Given the description of an element on the screen output the (x, y) to click on. 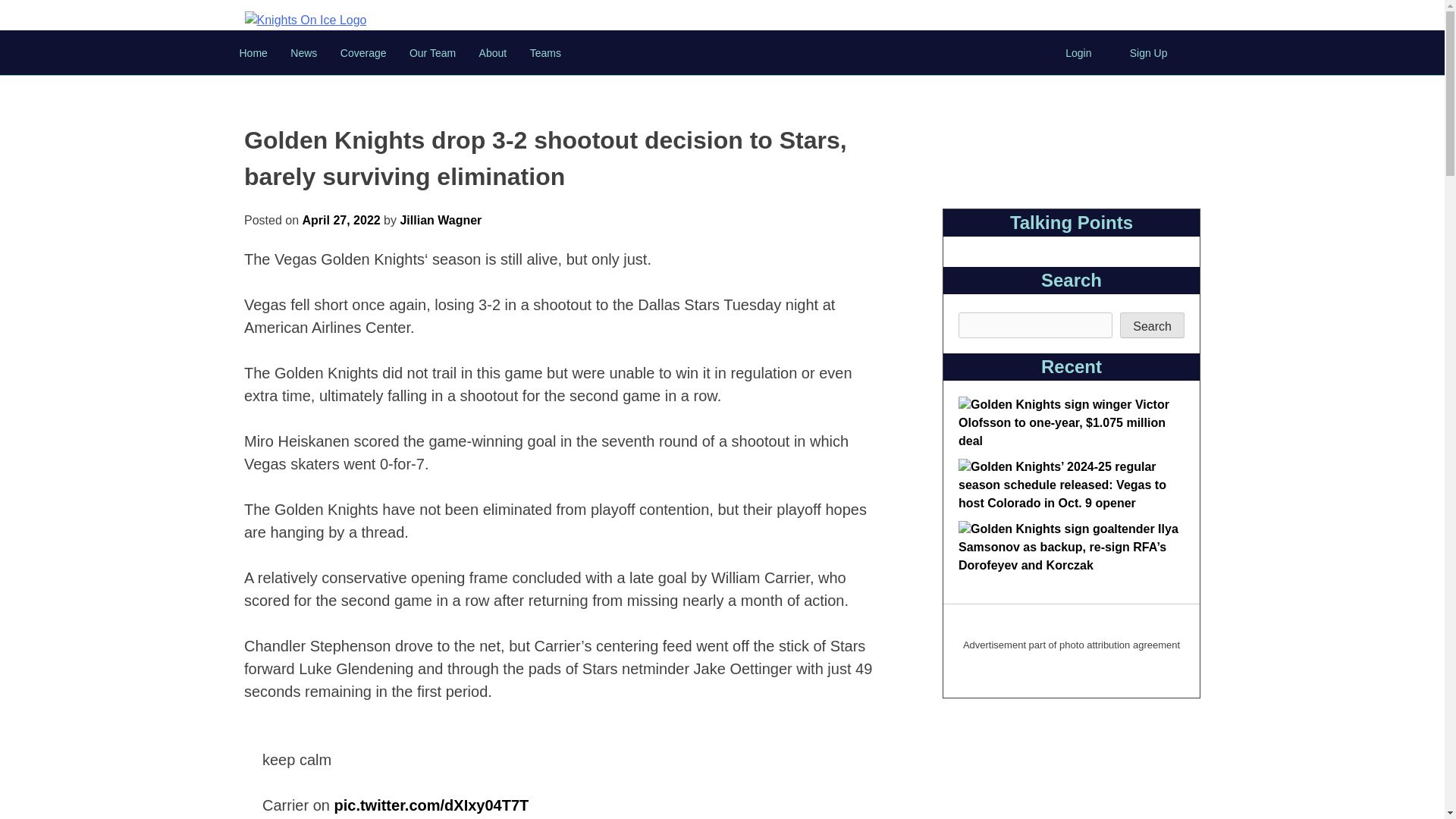
News (303, 52)
Teams (544, 52)
About (492, 52)
Coverage (363, 52)
Home (252, 52)
Our Team (431, 52)
Knights On Ice (305, 19)
